Given the description of an element on the screen output the (x, y) to click on. 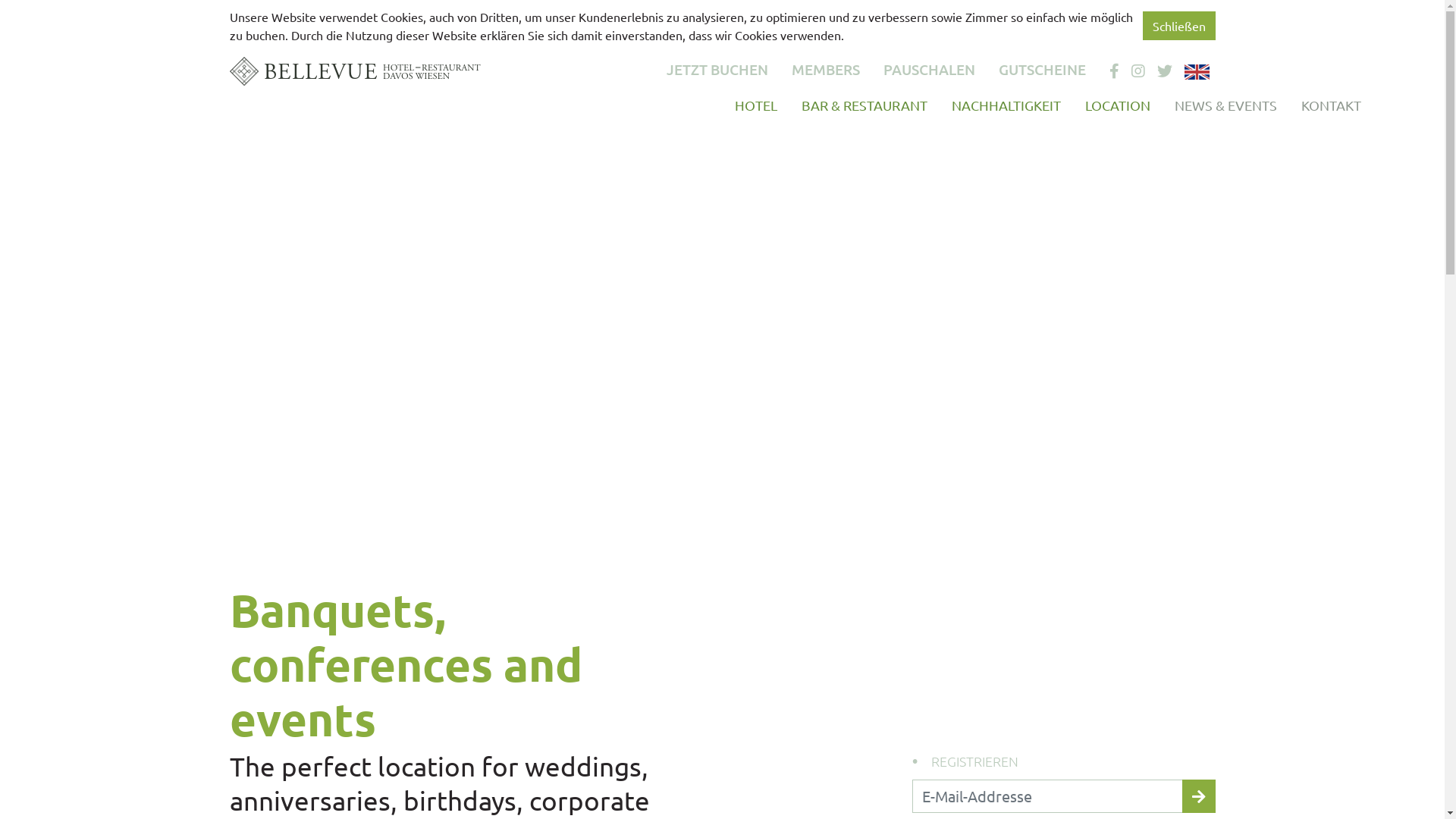
Einreichen Element type: text (1197, 795)
NACHHALTIGKEIT Element type: text (1005, 104)
NEWS & EVENTS Element type: text (1224, 104)
BAR & RESTAURANT Element type: text (863, 104)
LOCATION Element type: text (1116, 104)
facebook Element type: text (1113, 70)
HOTEL Element type: text (754, 104)
KONTAKT Element type: text (1331, 104)
Translate into English Element type: hover (1196, 71)
MEMBERS Element type: text (825, 70)
REGISTRIEREN Element type: text (974, 760)
GUTSCHEINE Element type: text (1041, 70)
PAUSCHALEN Element type: text (928, 70)
JETZT BUCHEN Element type: text (716, 70)
twitter Element type: text (1164, 70)
instagram Element type: text (1138, 70)
